Given the description of an element on the screen output the (x, y) to click on. 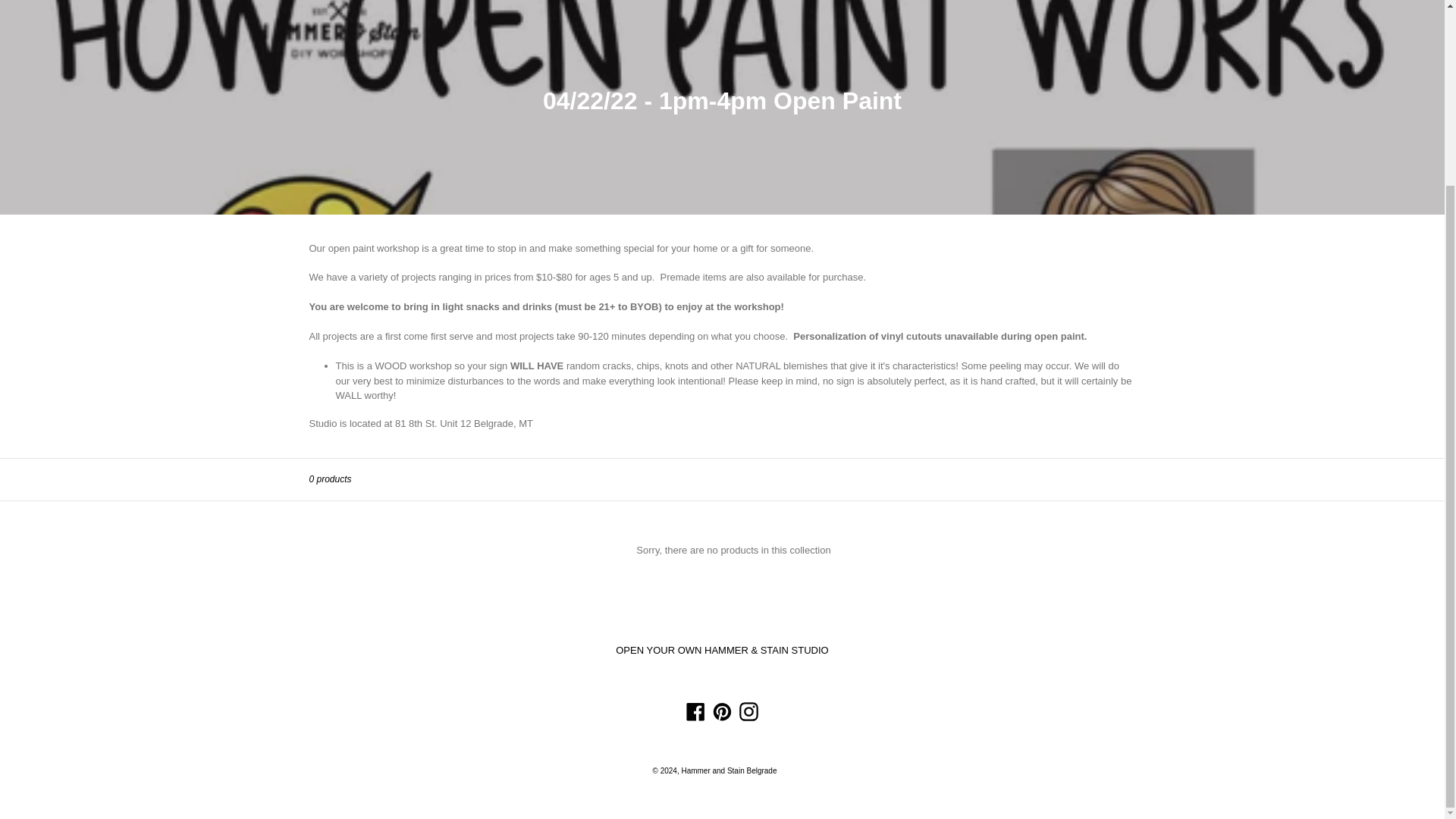
Instagram (748, 711)
Hammer and Stain Belgrade on Pinterest (721, 711)
Hammer and Stain Belgrade (728, 770)
Hammer and Stain Belgrade on Facebook (695, 711)
Pinterest (721, 711)
Facebook (695, 711)
Hammer and Stain Belgrade on Instagram (748, 711)
